Given the description of an element on the screen output the (x, y) to click on. 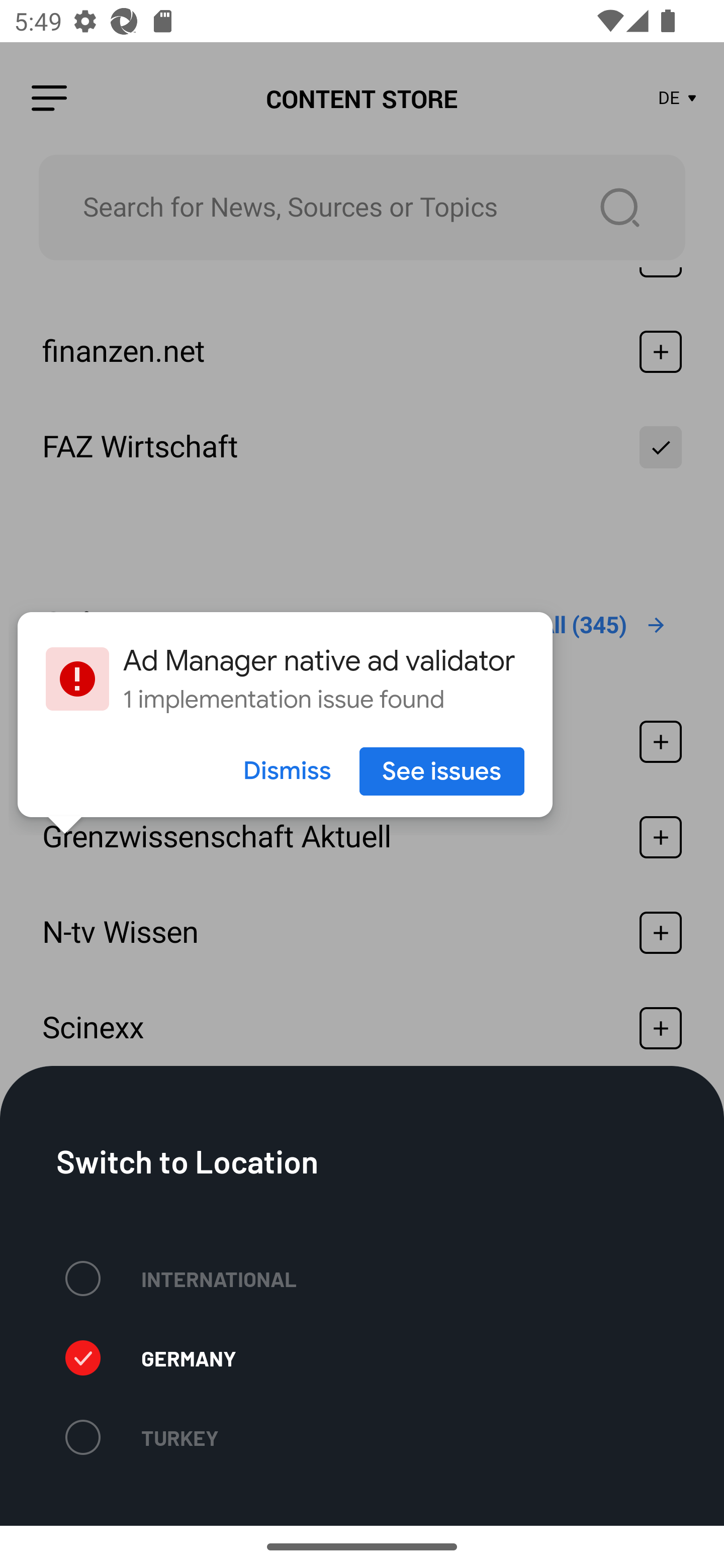
INTERNATIONAL (180, 1277)
Selected News Style GERMANY (150, 1357)
TURKEY (141, 1437)
